Given the description of an element on the screen output the (x, y) to click on. 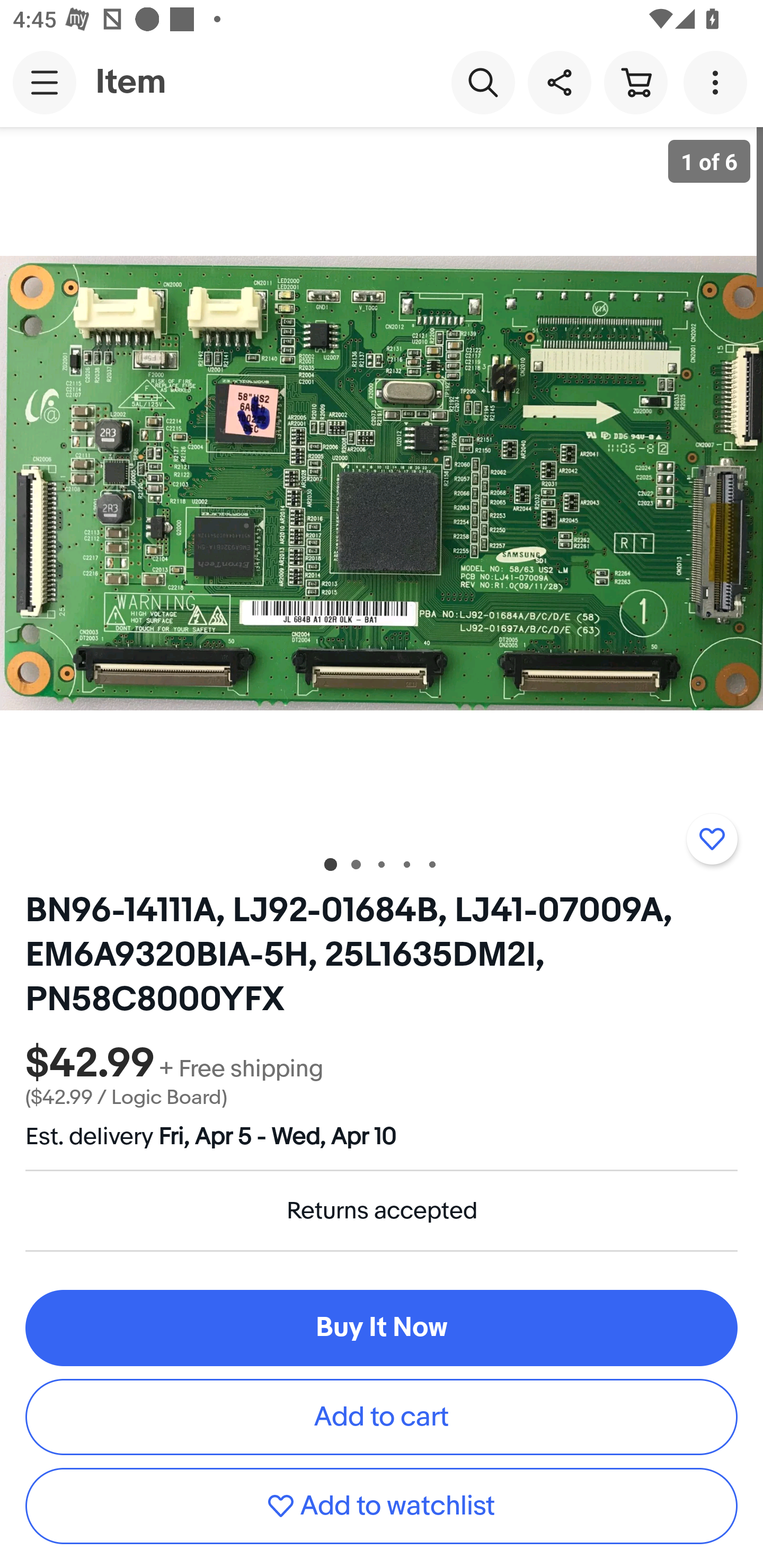
Main navigation, open (44, 82)
Search (482, 81)
Share this item (559, 81)
Cart button shopping cart (635, 81)
More options (718, 81)
Item image 1 of 6 (381, 482)
Add to watchlist (711, 838)
Buy It Now (381, 1327)
Add to cart (381, 1416)
Add to watchlist (381, 1505)
